Given the description of an element on the screen output the (x, y) to click on. 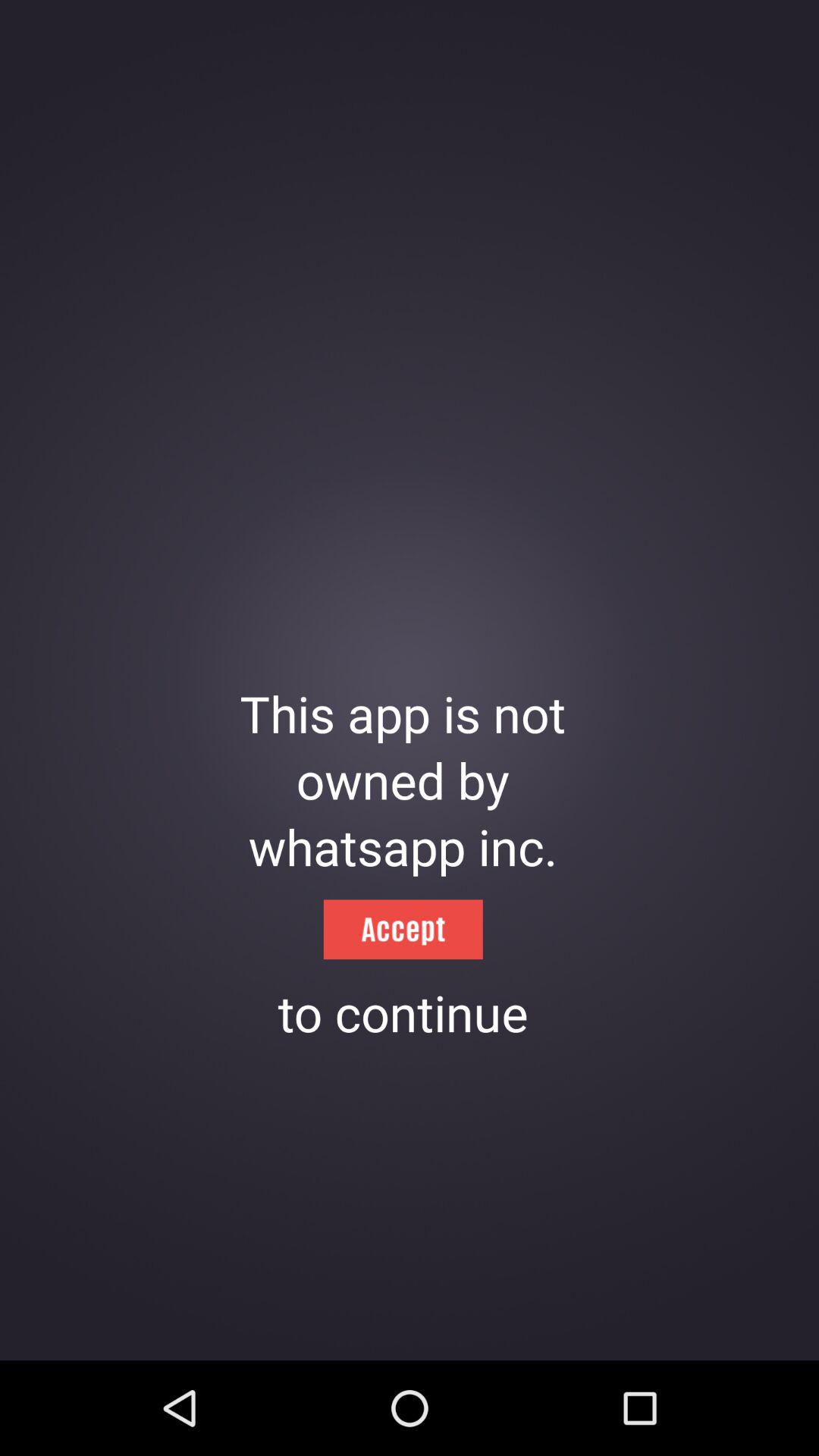
open the icon below whatsapp inc. icon (402, 929)
